Given the description of an element on the screen output the (x, y) to click on. 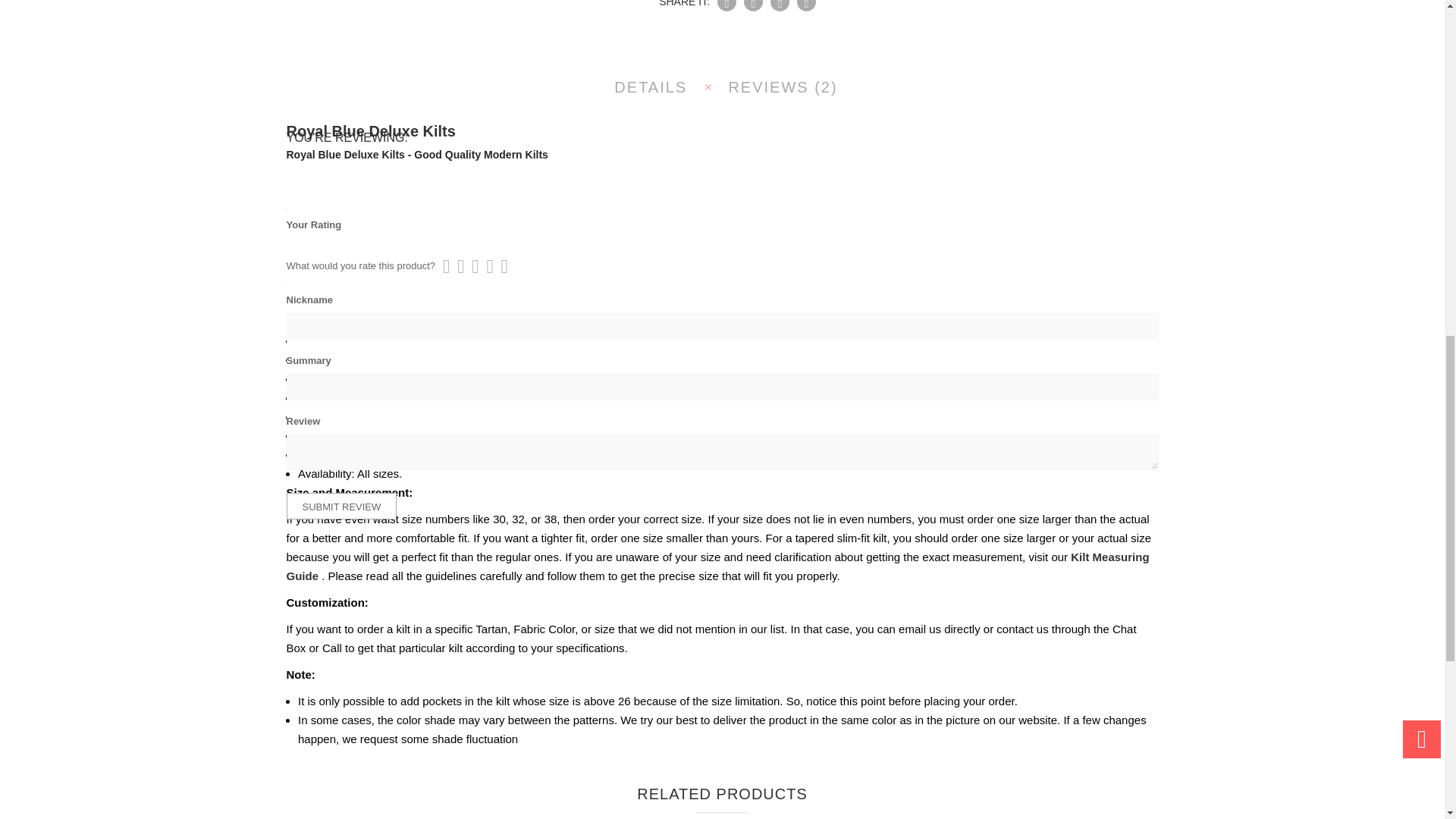
2 stars (456, 266)
Share on Facebook (726, 5)
Pin this (779, 5)
Share on LinkedIn (805, 5)
Share on Twitter (753, 5)
